Given the description of an element on the screen output the (x, y) to click on. 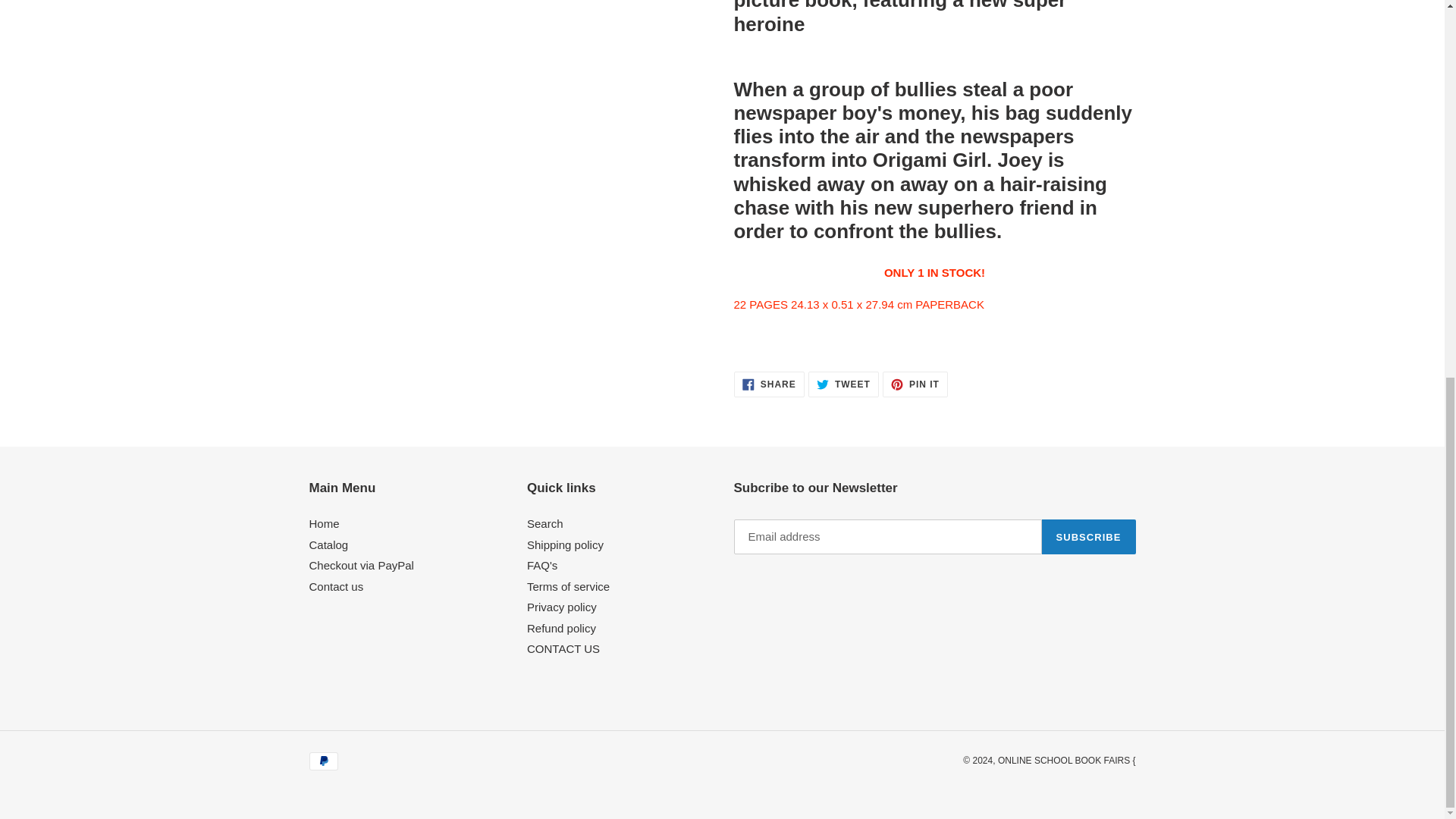
Home (323, 522)
Catalog (328, 544)
